Given the description of an element on the screen output the (x, y) to click on. 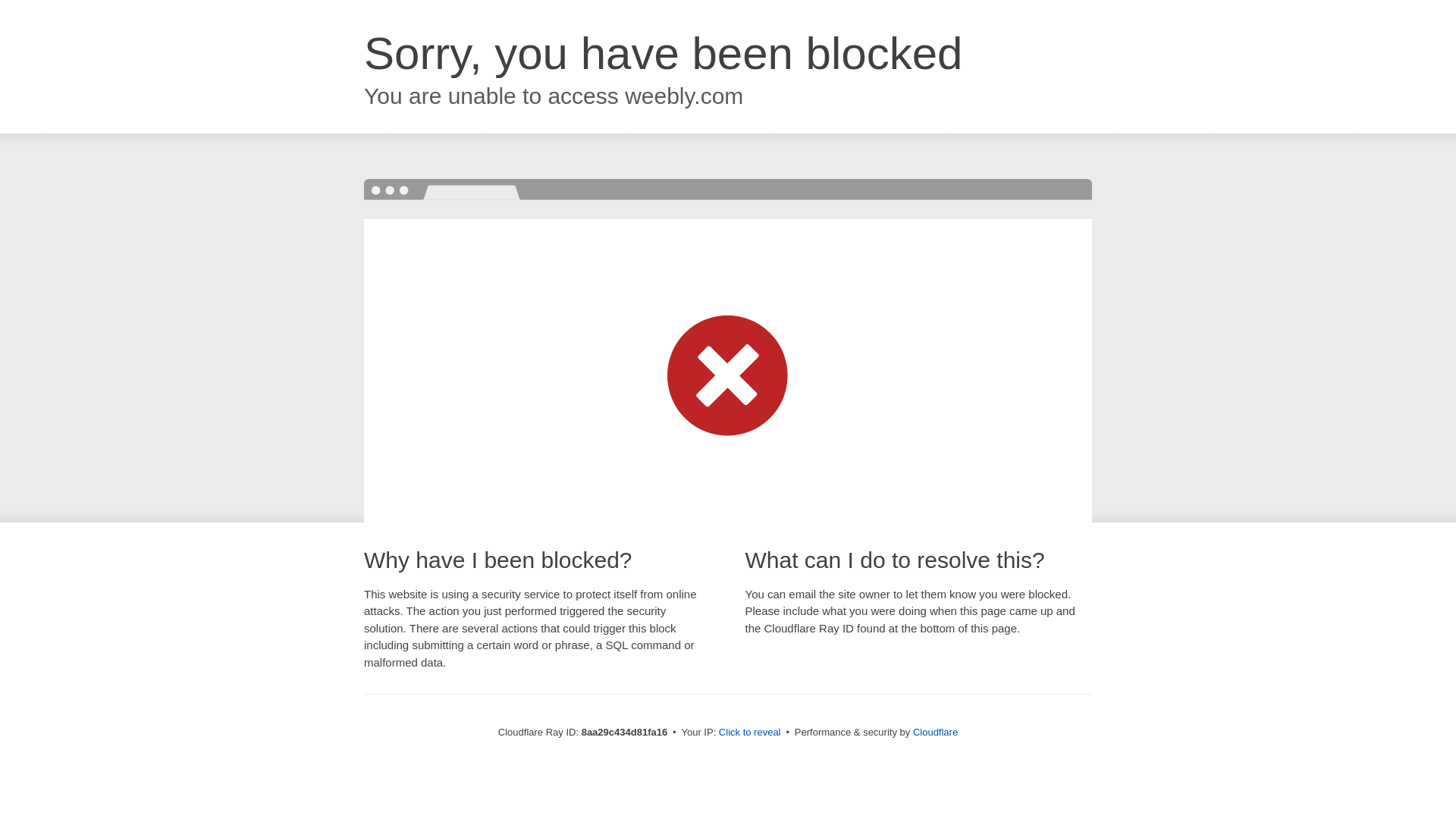
Cloudflare (935, 731)
Click to reveal (749, 732)
